Given the description of an element on the screen output the (x, y) to click on. 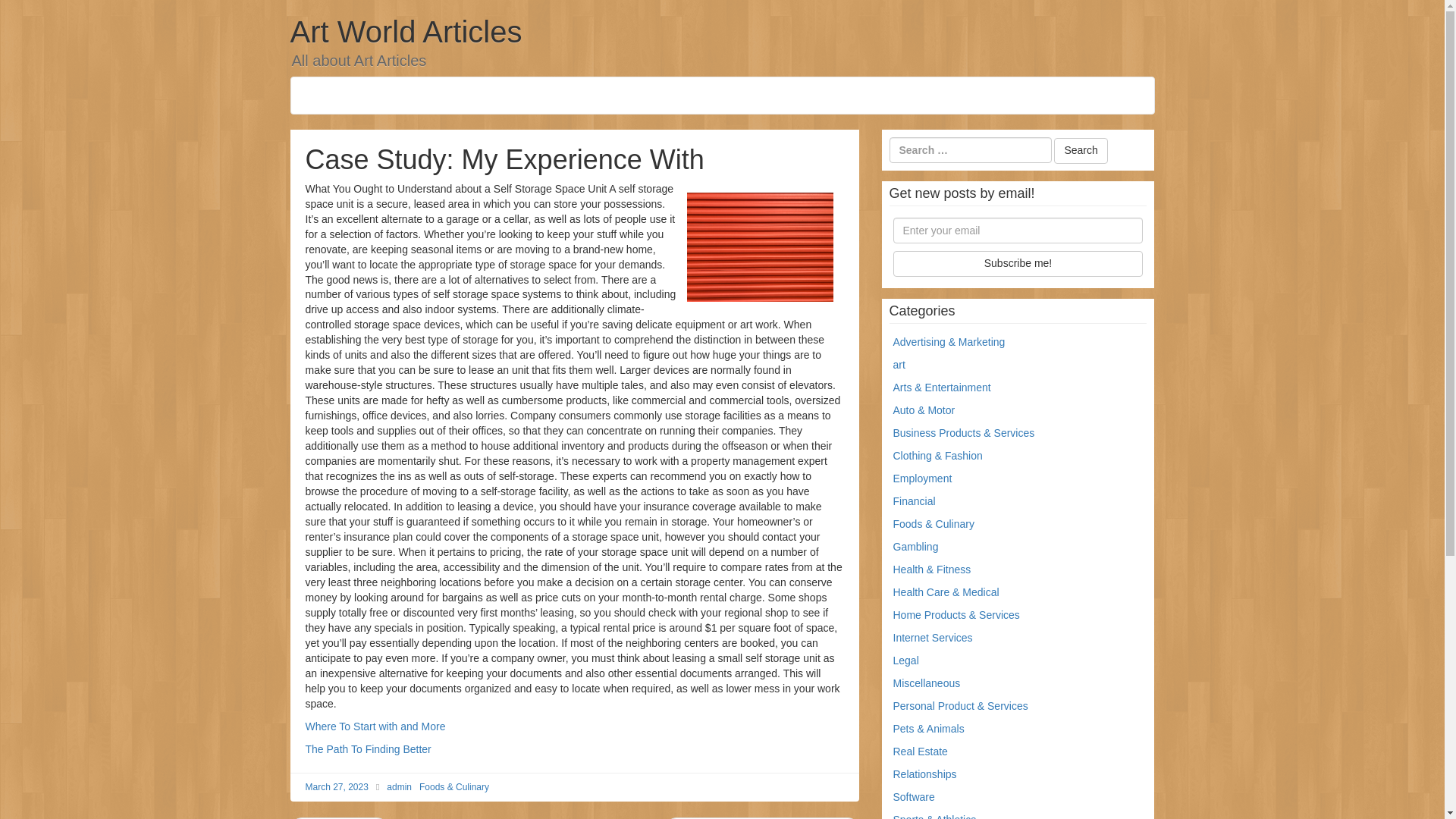
Search (1080, 150)
art (899, 364)
Subscribe me! (1017, 263)
Search for: (969, 149)
Relationships (924, 774)
Art World Articles (405, 31)
admin (399, 787)
Search (1080, 150)
Internet Services (932, 637)
Miscellaneous (926, 683)
